Given the description of an element on the screen output the (x, y) to click on. 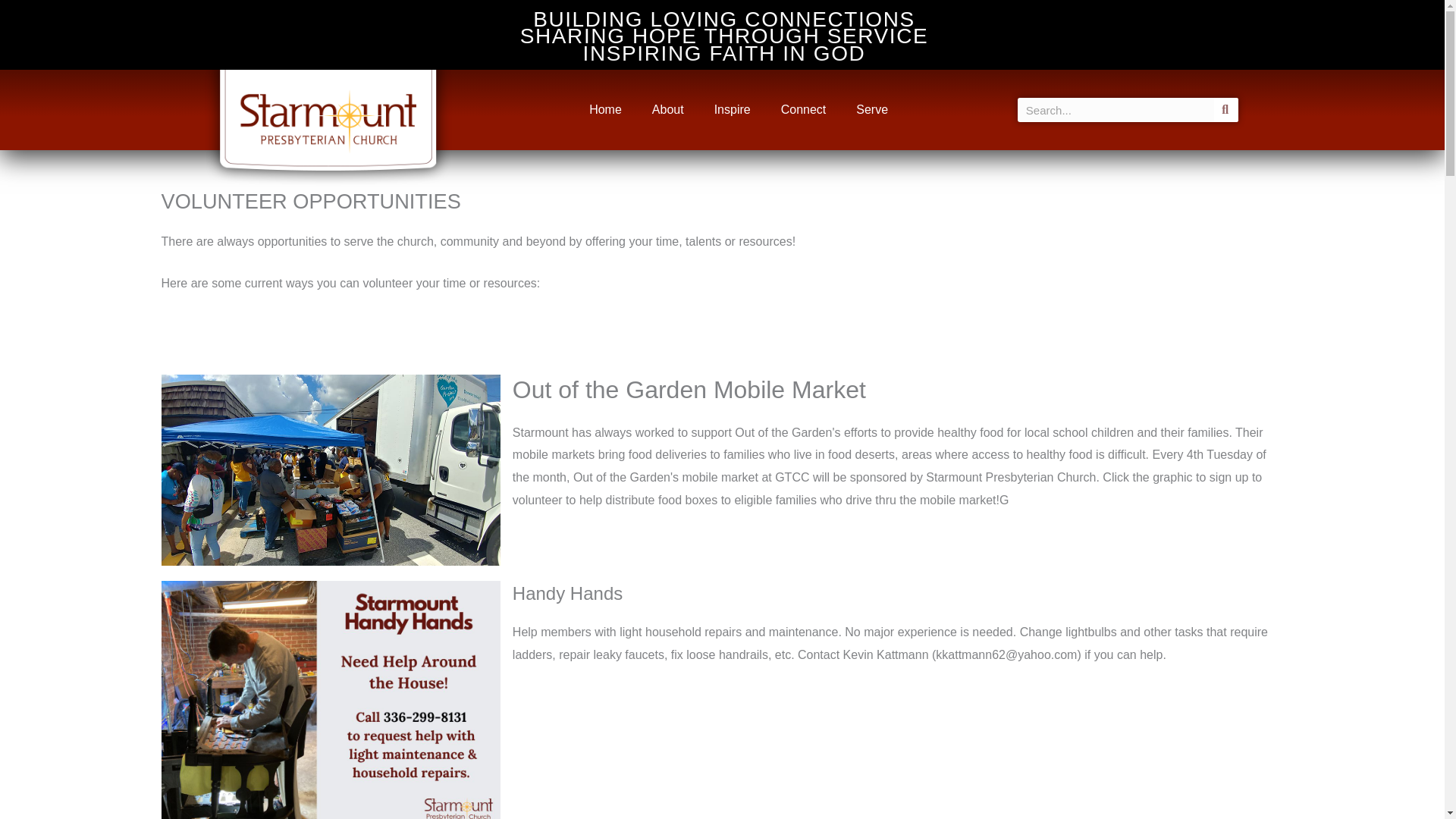
Serve (871, 109)
Home (605, 109)
Inspire (731, 109)
Connect (803, 109)
About (667, 109)
